Given the description of an element on the screen output the (x, y) to click on. 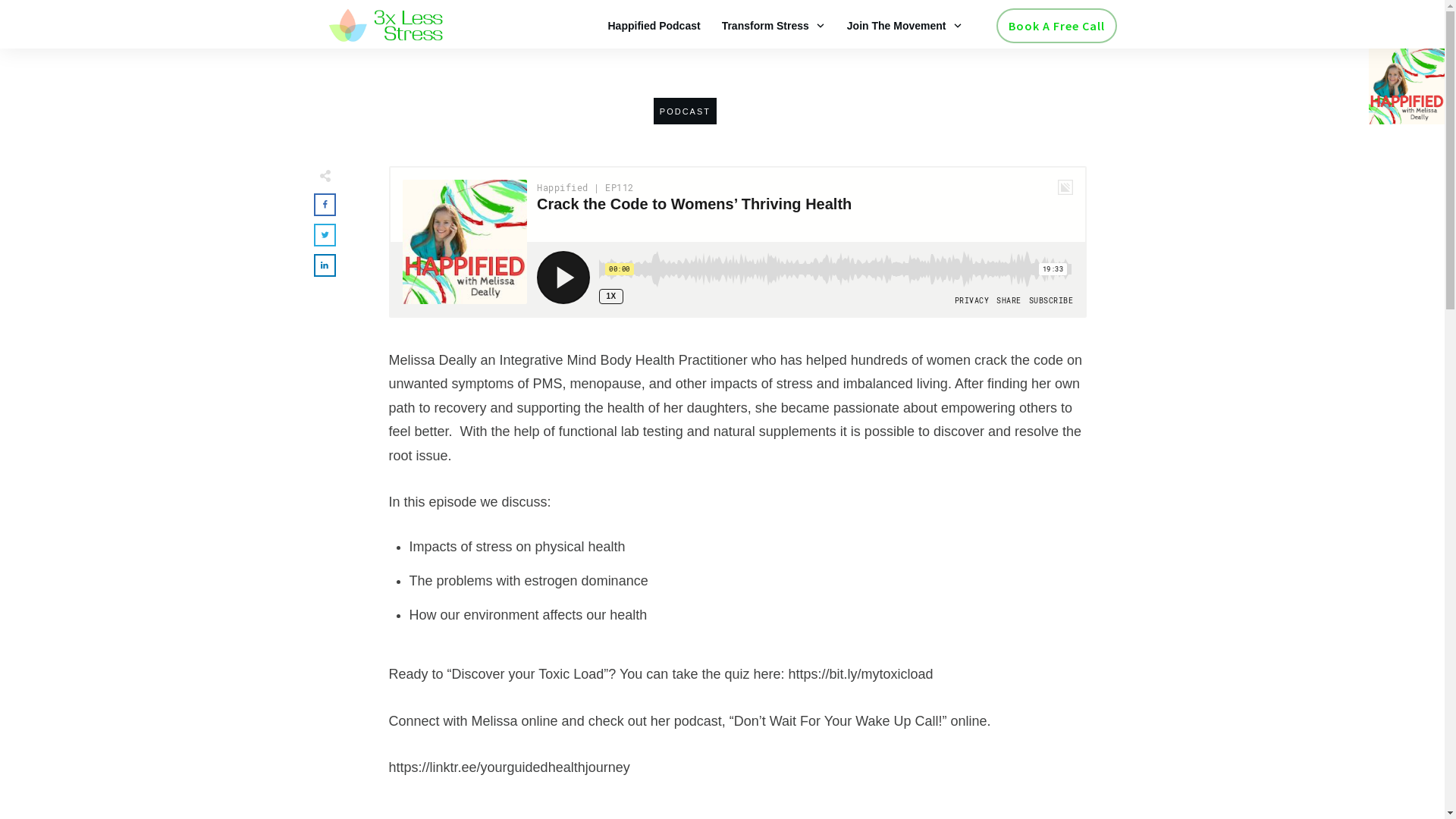
https://linktr.ee/yourguidedhealthjourney Element type: text (508, 767)
https://bit.ly/mytoxicload Element type: text (860, 673)
Book A Free Call Element type: text (1056, 25)
Join The Movement Element type: text (905, 25)
Happified Podcast Element type: text (654, 25)
Transform Stress Element type: text (773, 25)
